Given the description of an element on the screen output the (x, y) to click on. 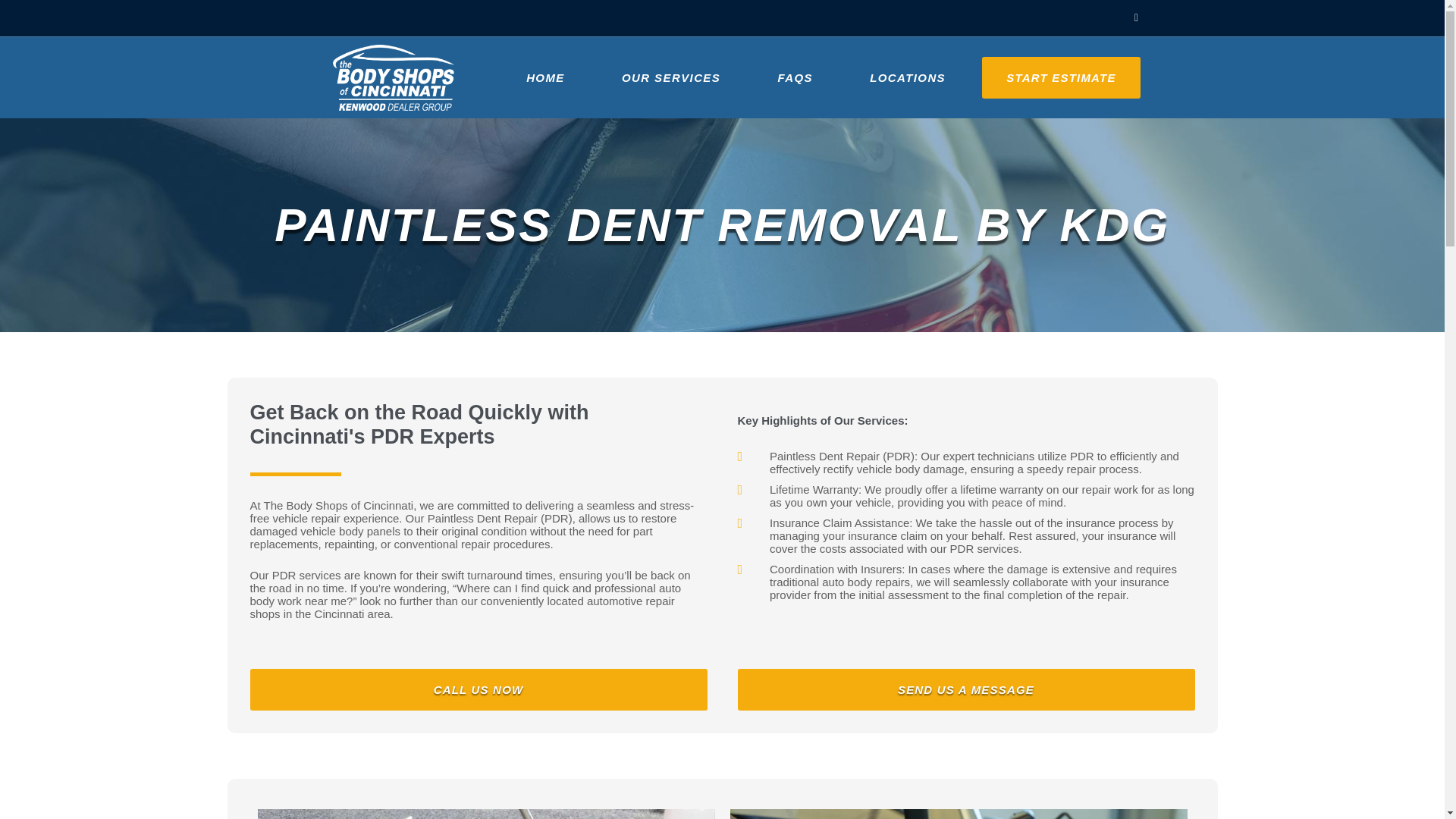
LOCATIONS (907, 78)
CALL US NOW (478, 689)
OUR SERVICES (670, 78)
START ESTIMATE (1061, 77)
SEND US A MESSAGE (964, 689)
FAQS (795, 78)
HOME (544, 78)
